Given the description of an element on the screen output the (x, y) to click on. 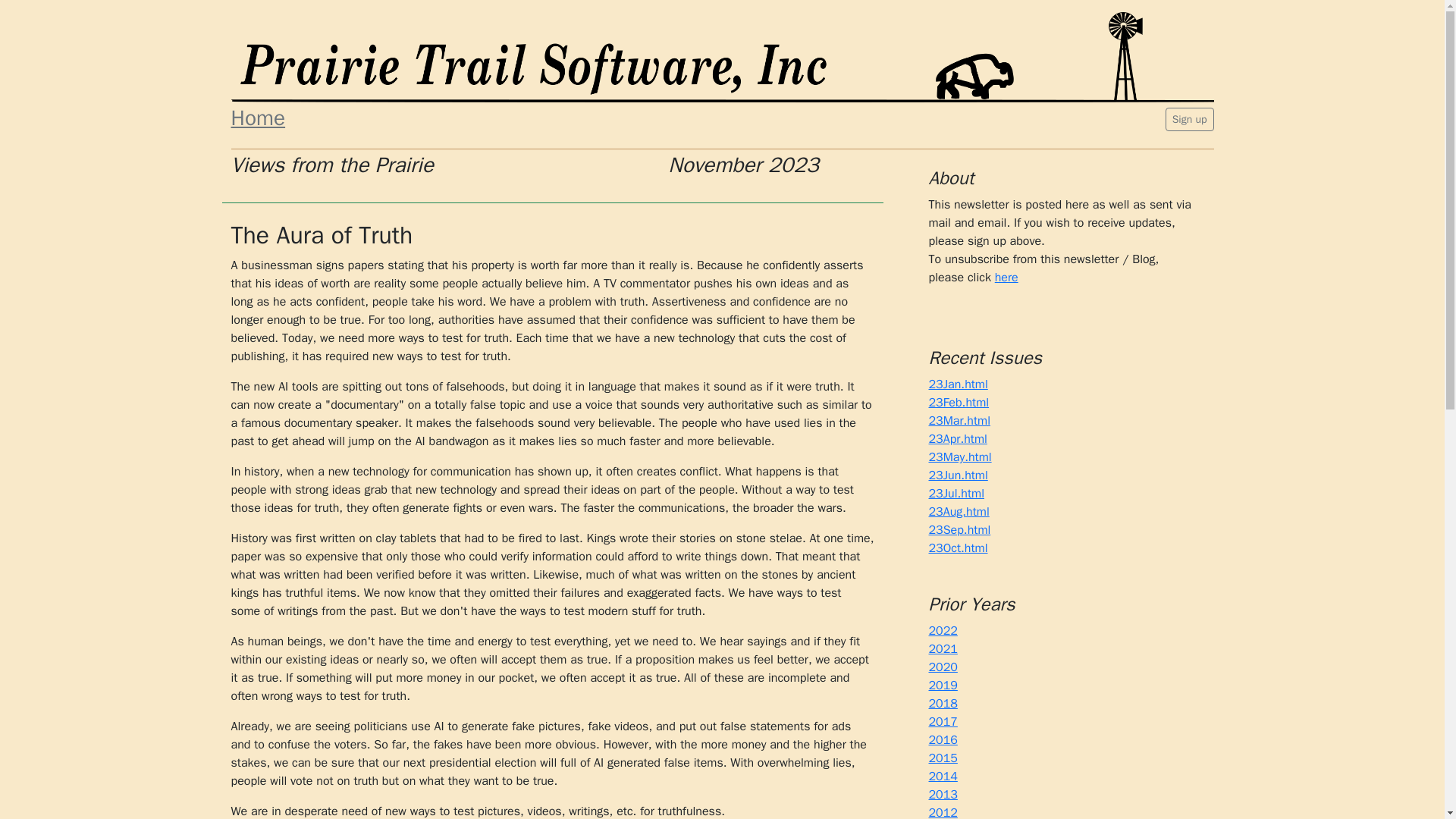
2013 (942, 794)
23Aug.html (958, 511)
2019 (942, 685)
2017 (942, 721)
23Jun.html (957, 475)
2018 (942, 703)
here (1005, 277)
23Oct.html (957, 548)
2016 (942, 739)
23Jul.html (956, 493)
23Sep.html (959, 529)
23Apr.html (957, 438)
23Feb.html (958, 402)
23May.html (959, 457)
23Mar.html (959, 420)
